Given the description of an element on the screen output the (x, y) to click on. 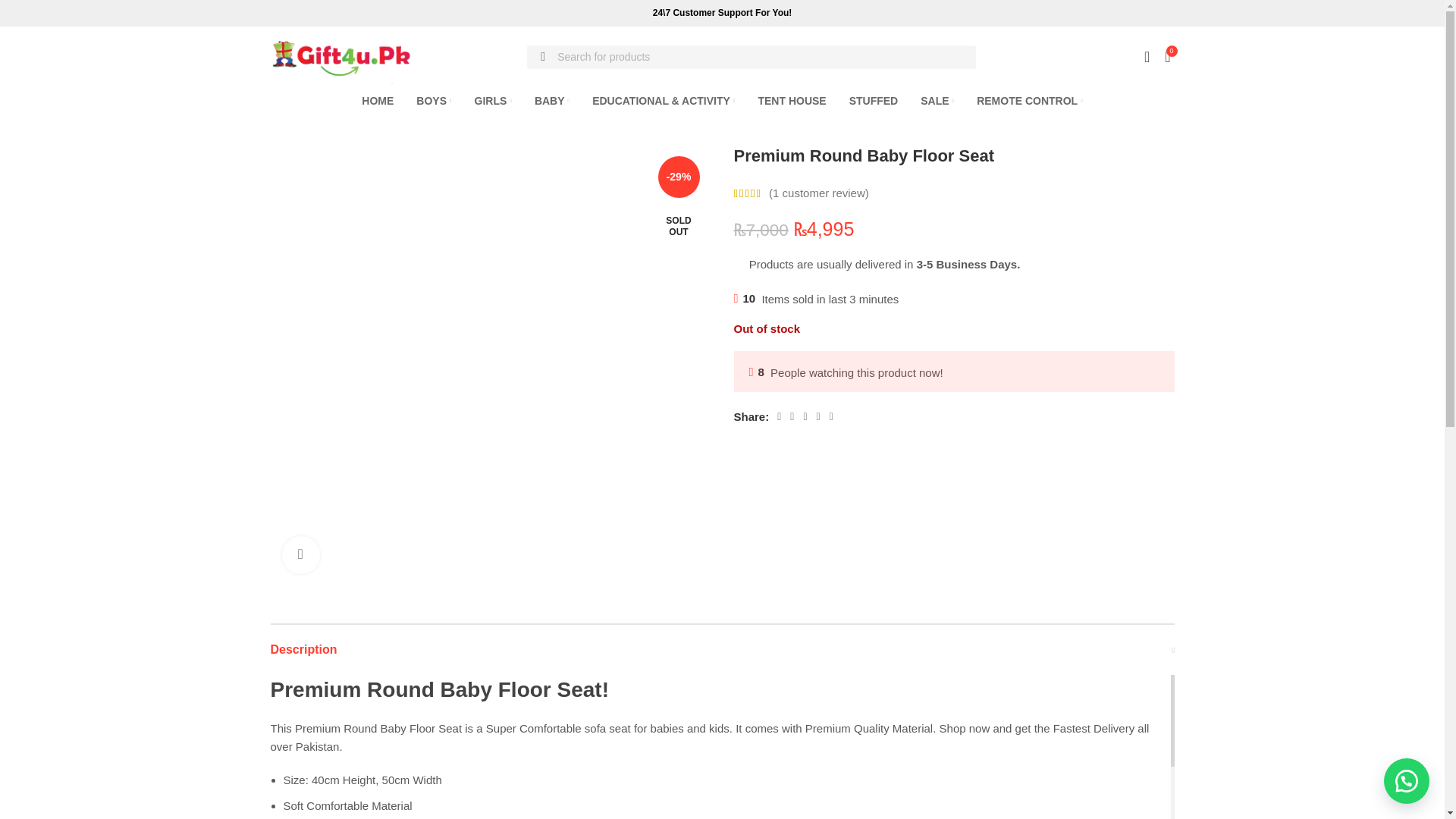
BOYS (433, 100)
STUFFED (873, 100)
HOME (377, 100)
SALE (936, 100)
REMOTE CONTROL (1029, 100)
Search for products (750, 57)
GIRLS (493, 100)
SEARCH (542, 57)
BABY (551, 100)
TENT HOUSE (791, 100)
